Given the description of an element on the screen output the (x, y) to click on. 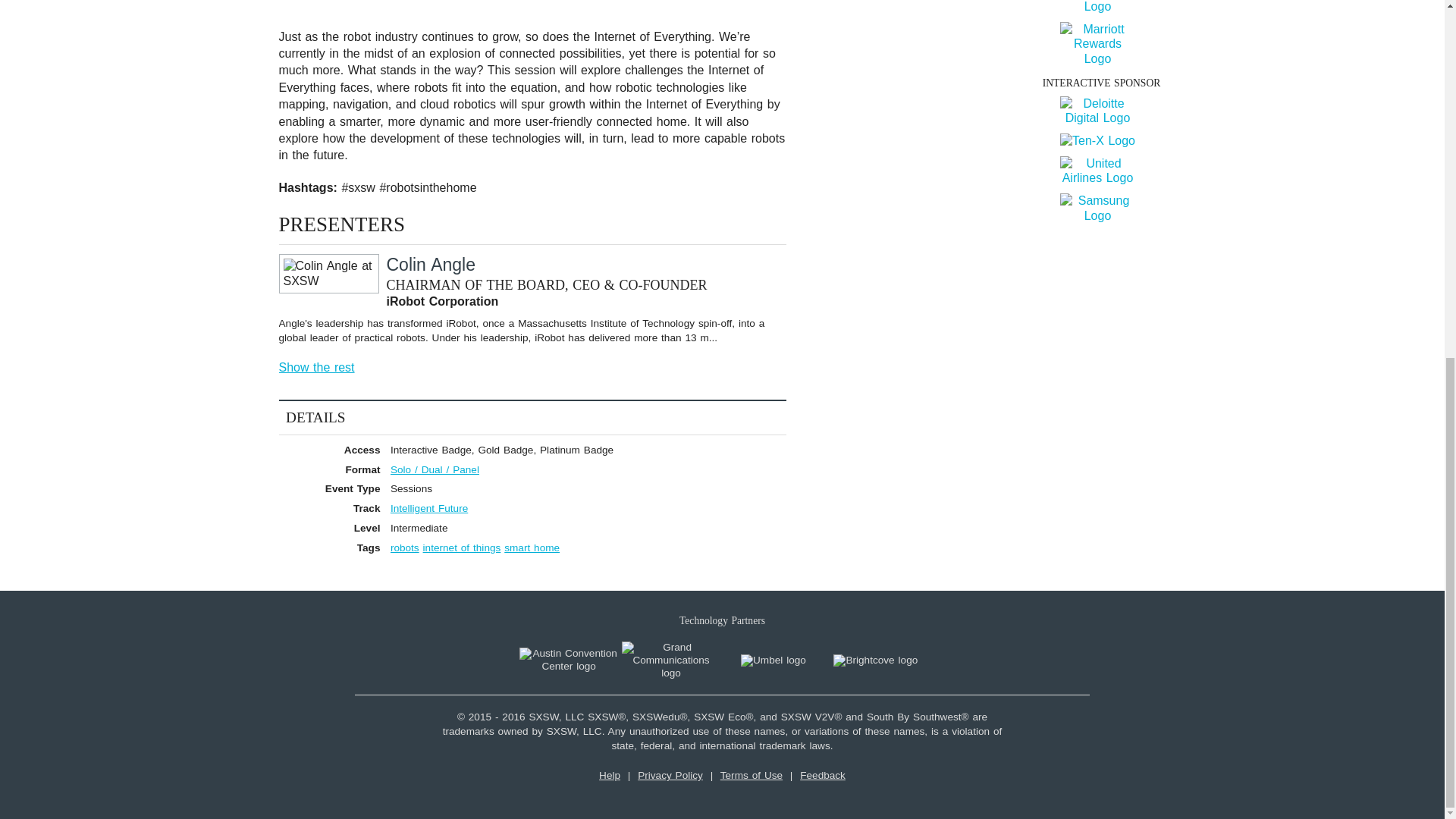
SXSW 2016 Music Sponsor (1100, 27)
Samsung Logo (1097, 207)
United Airlines Logo (1097, 170)
Ten-X Logo (1097, 140)
Deloitte Digital Logo (1097, 111)
